Given the description of an element on the screen output the (x, y) to click on. 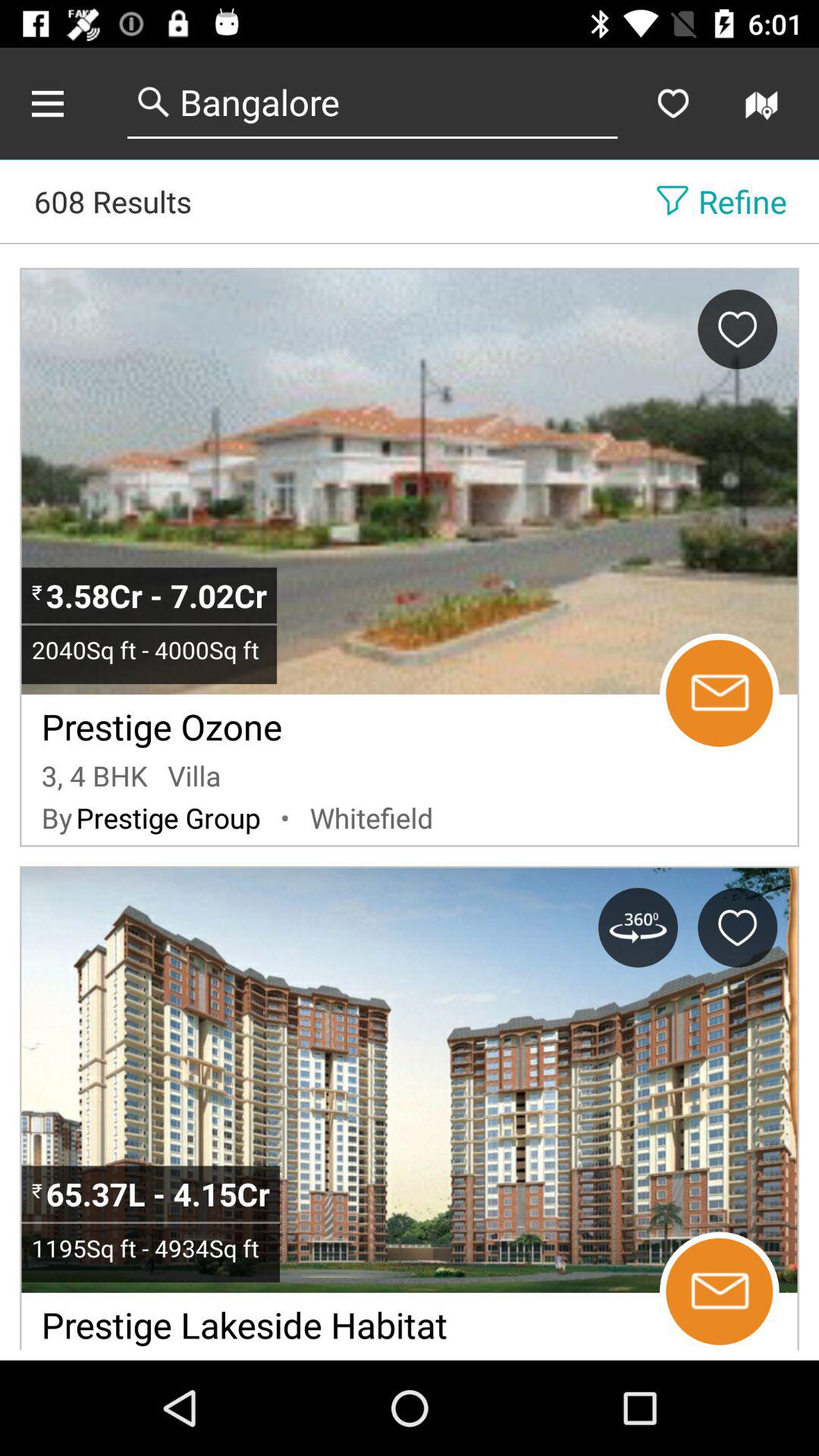
more options (63, 103)
